Given the description of an element on the screen output the (x, y) to click on. 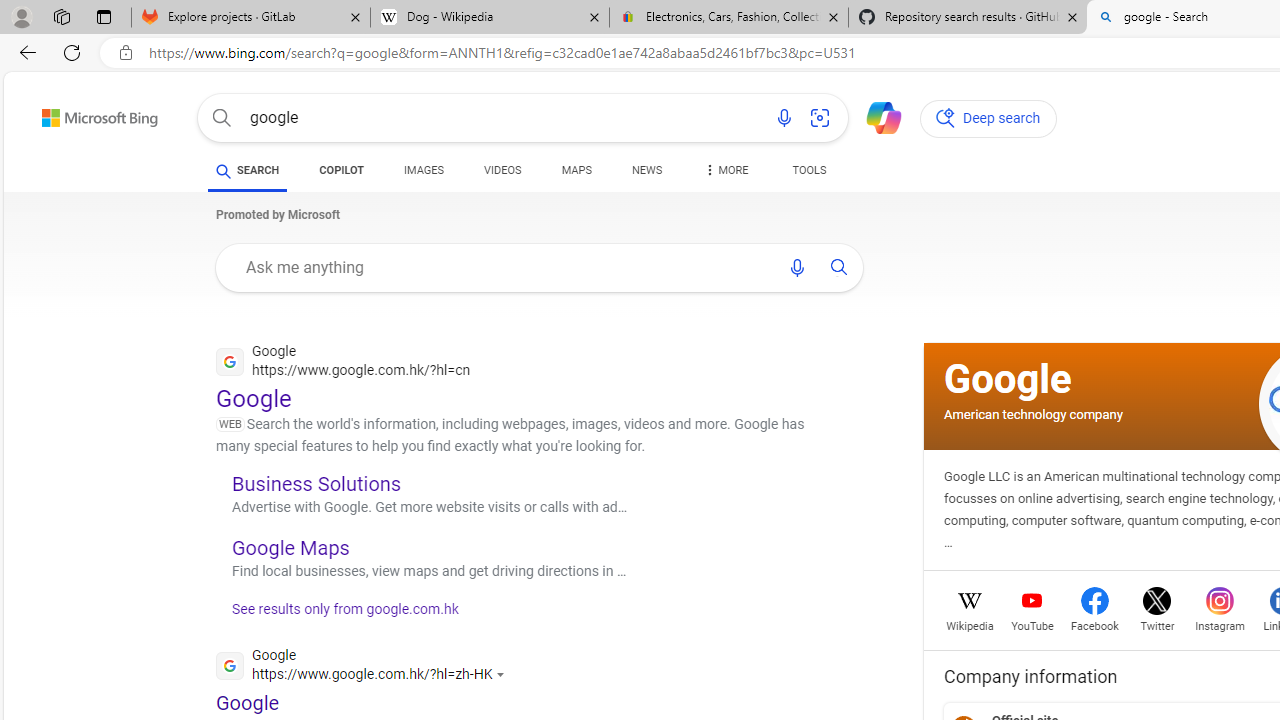
Chat (875, 116)
Twitter (1156, 624)
Ask me anything (502, 267)
SEARCH (247, 170)
Back to Bing search (87, 113)
Search using an image (820, 117)
MAPS (576, 170)
Search using voice (797, 267)
MORE (724, 173)
Instagram (1219, 624)
